Given the description of an element on the screen output the (x, y) to click on. 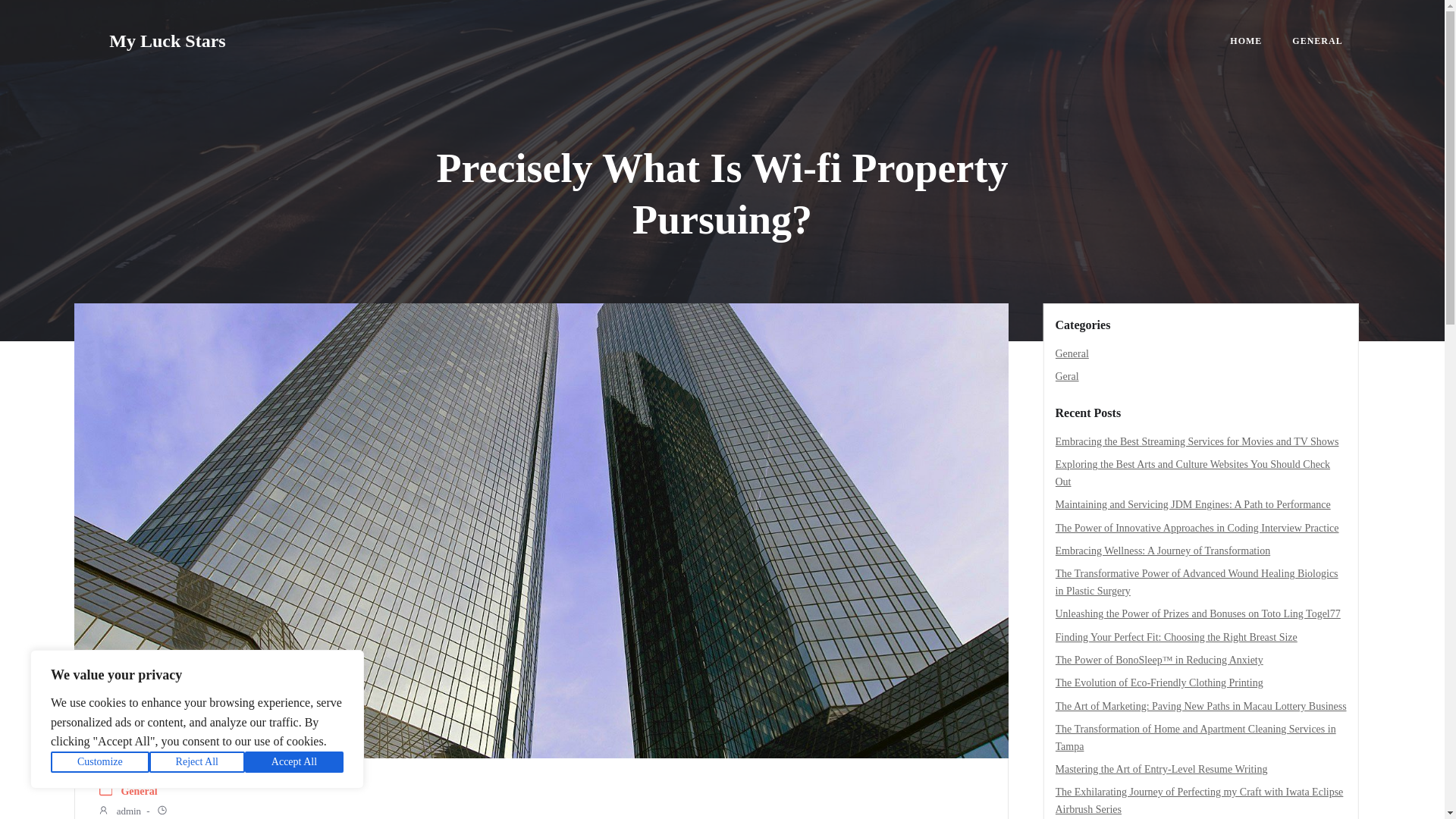
GENERAL (1317, 40)
Reject All (196, 762)
Accept All (293, 762)
HOME (1246, 40)
General (1072, 353)
Geral (1066, 376)
My Luck Stars (167, 40)
Customize (99, 762)
admin (119, 811)
